Given the description of an element on the screen output the (x, y) to click on. 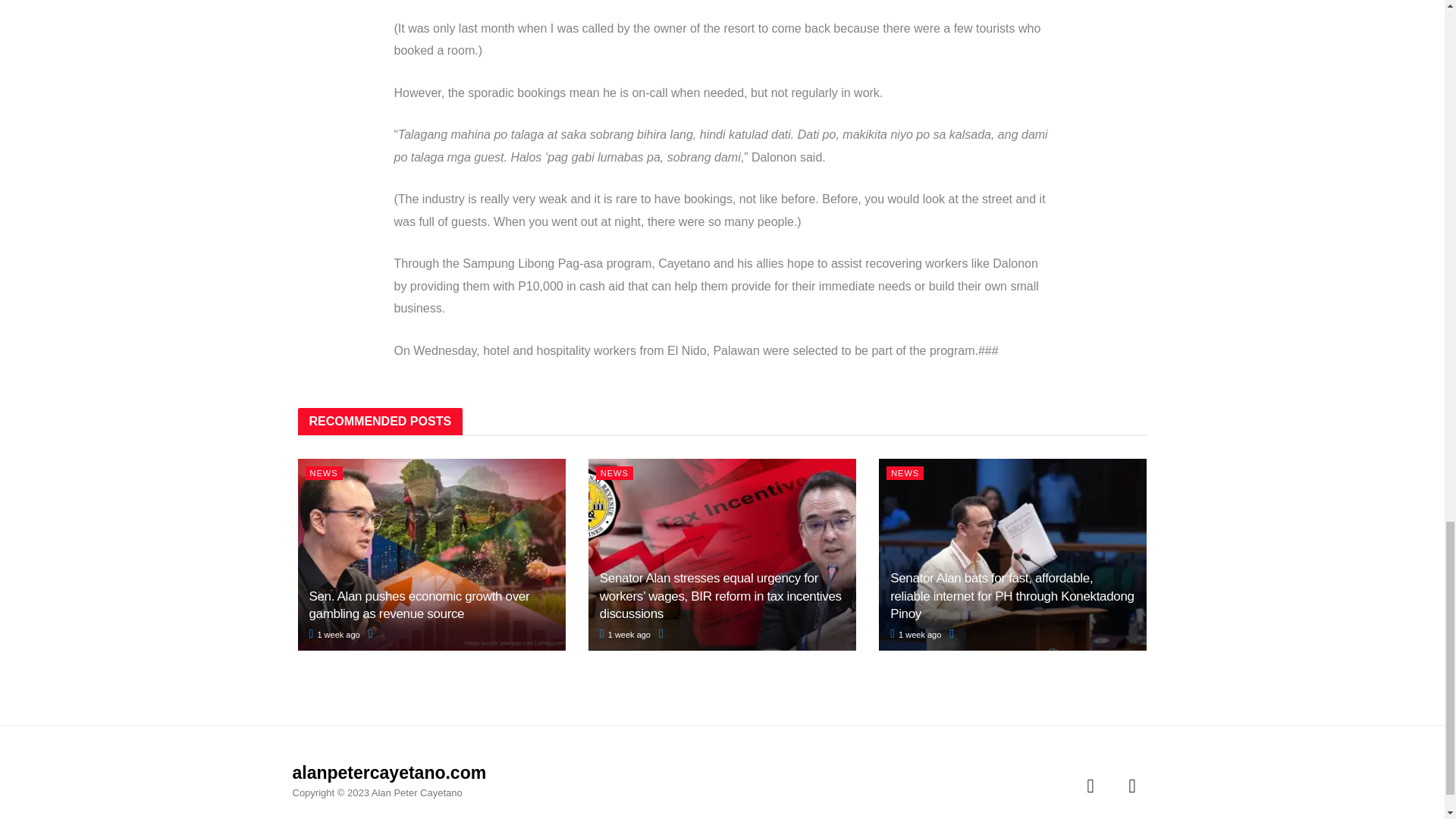
1 week ago (624, 634)
NEWS (904, 472)
1 week ago (333, 634)
NEWS (323, 472)
NEWS (614, 472)
